Given the description of an element on the screen output the (x, y) to click on. 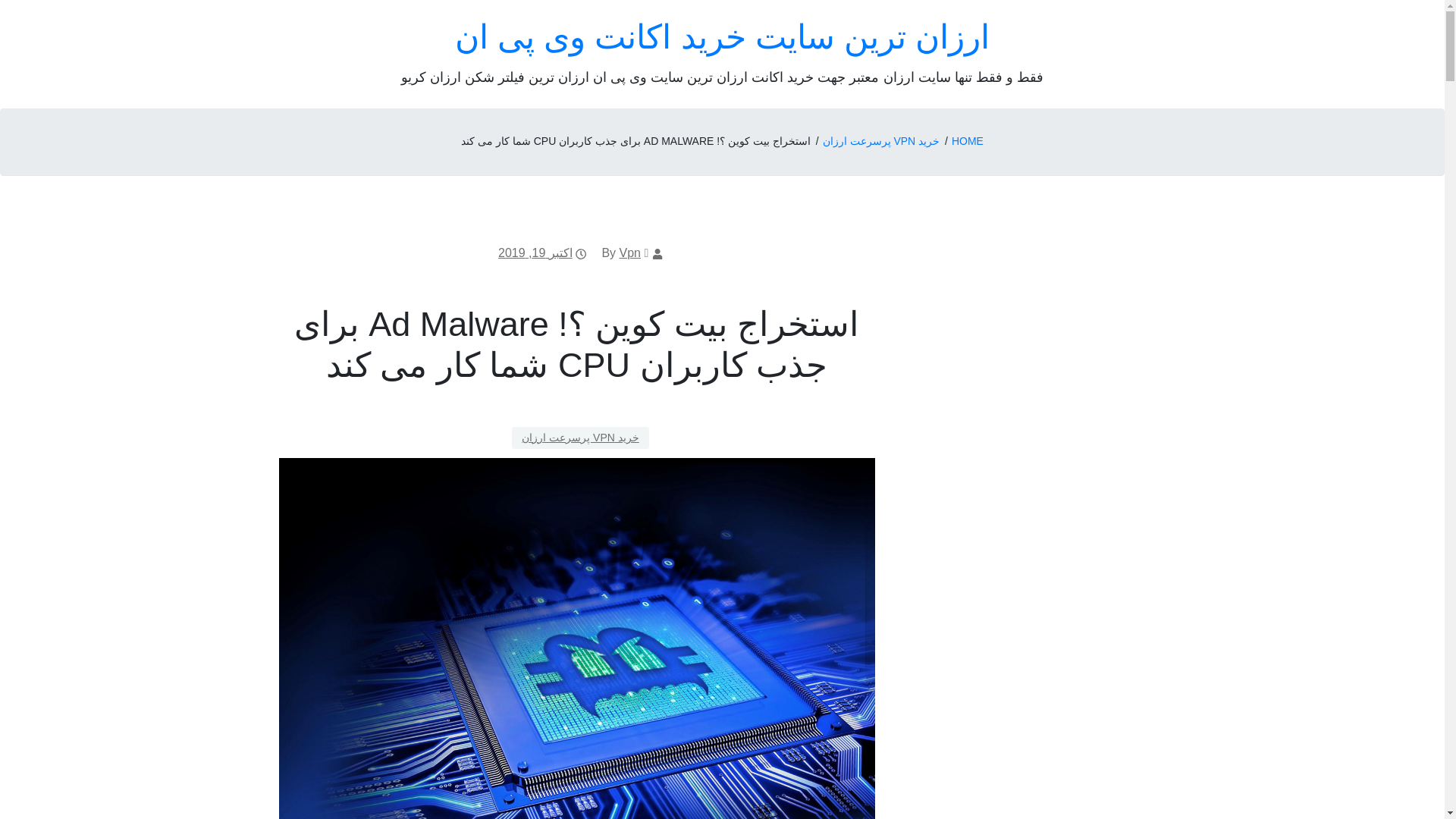
Vpn (630, 252)
HOME (968, 141)
